Given the description of an element on the screen output the (x, y) to click on. 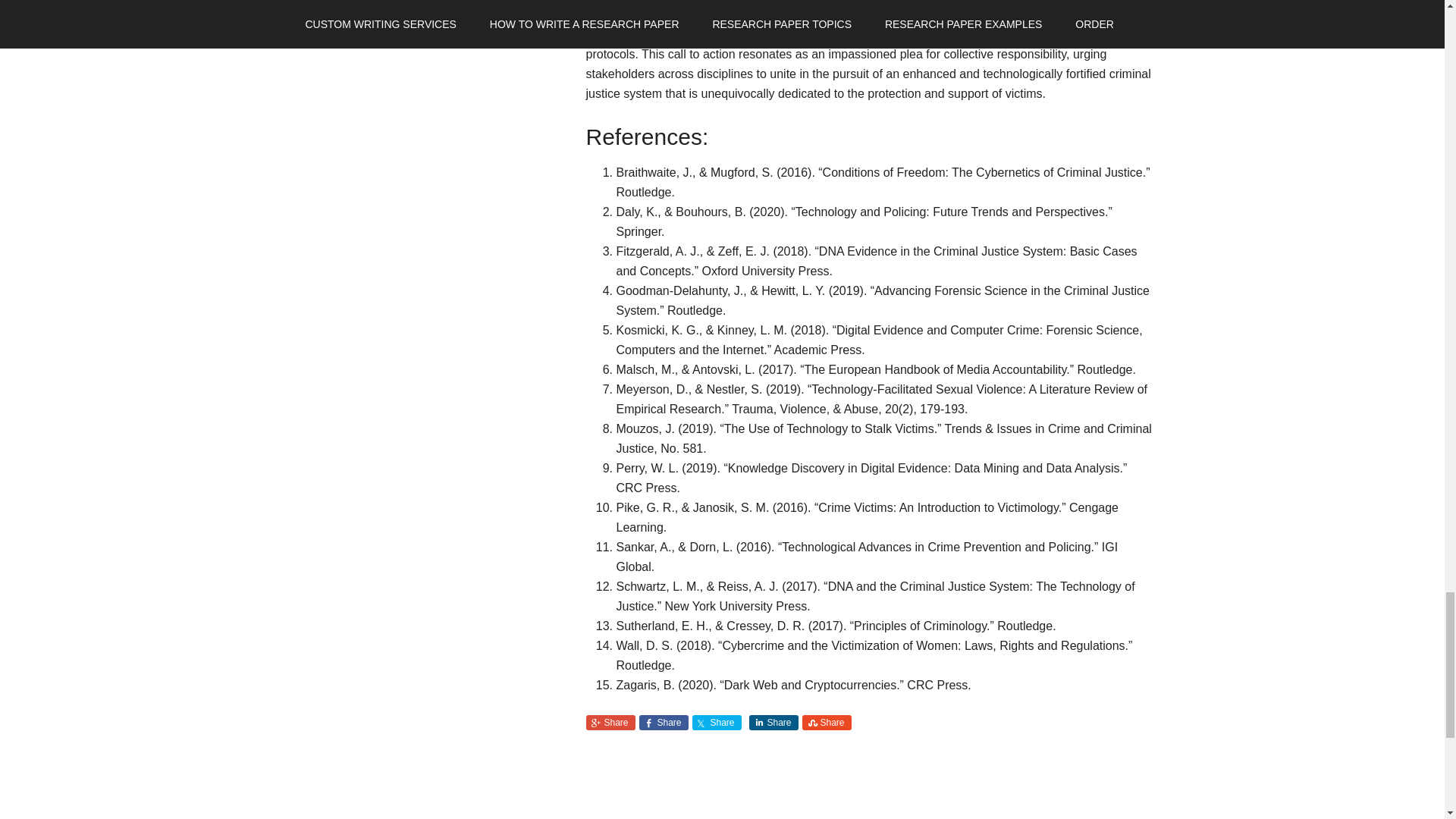
Share (663, 722)
Share (716, 722)
Share (773, 722)
Share (609, 722)
Share (826, 722)
